Given the description of an element on the screen output the (x, y) to click on. 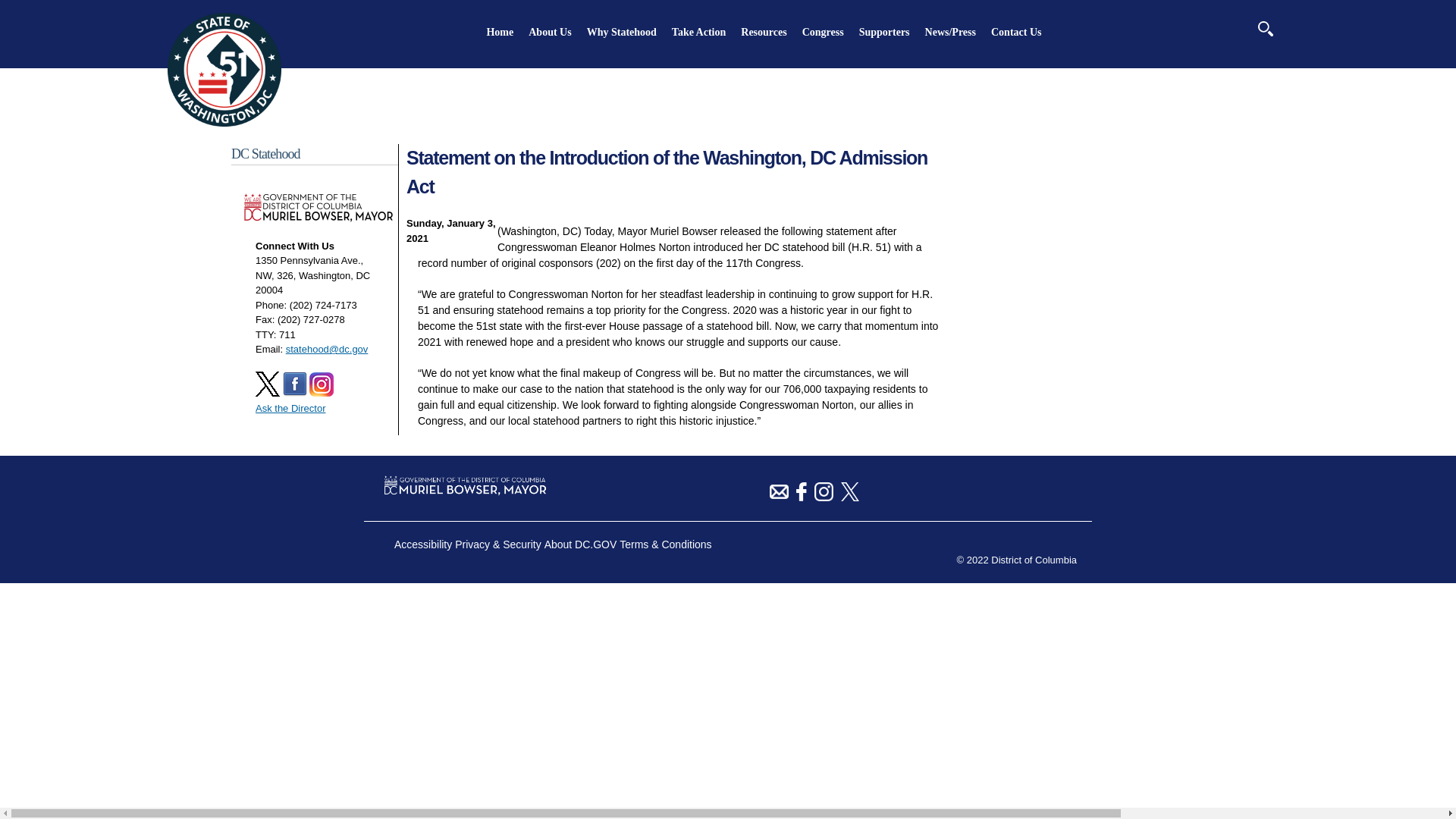
Introduction (549, 31)
Supporters (884, 31)
Congress (823, 31)
About Us (549, 31)
Why Statehood (621, 31)
Take Action (698, 31)
Contact Us (1016, 31)
Mayor logo (224, 69)
Resources (763, 31)
